Given the description of an element on the screen output the (x, y) to click on. 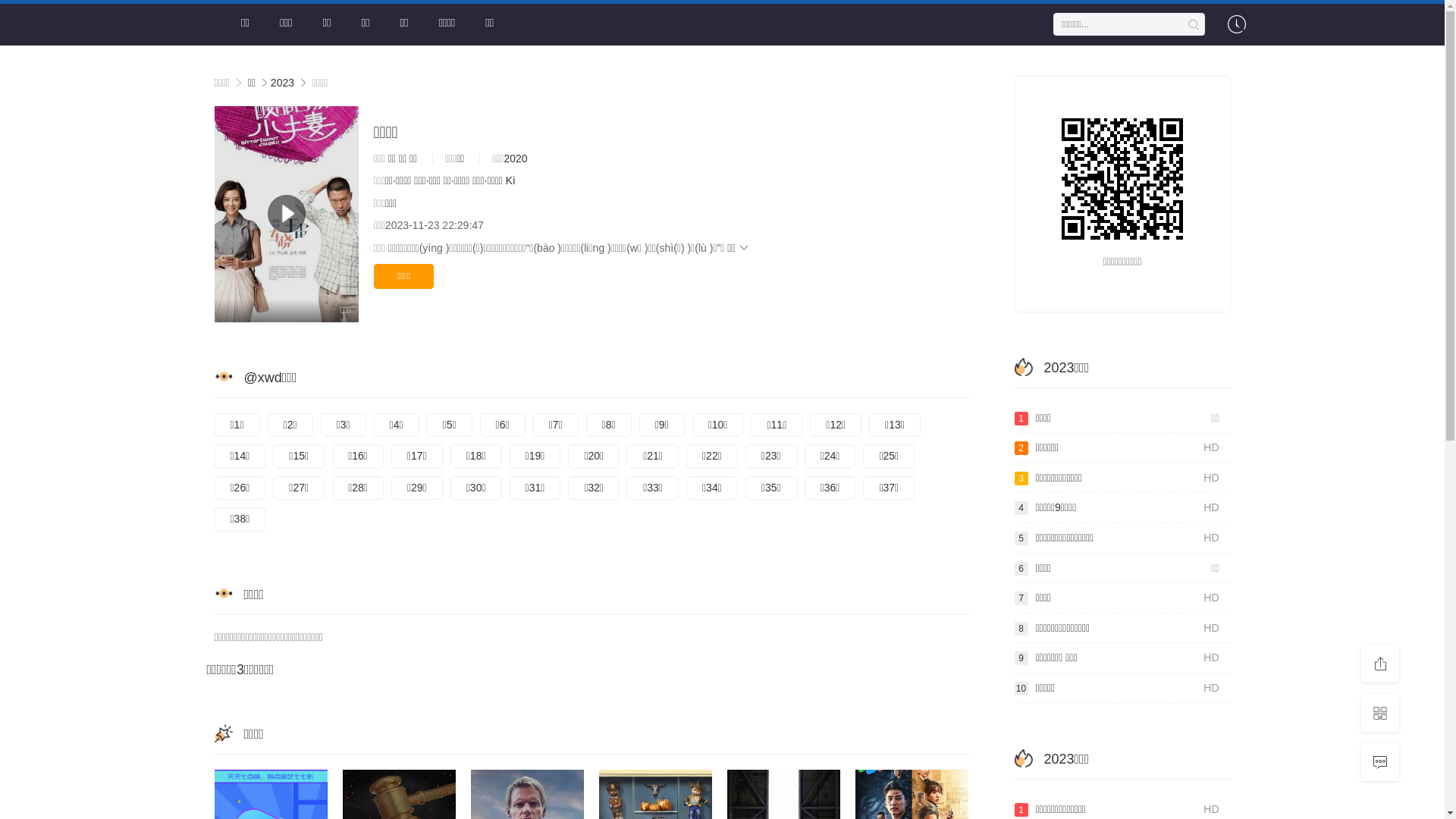
http://www.mmiss.cc/wanghonggushi/42.html Element type: hover (1121, 178)
2023 Element type: text (282, 82)
2020 Element type: text (515, 158)
Ki Element type: text (509, 180)
